Given the description of an element on the screen output the (x, y) to click on. 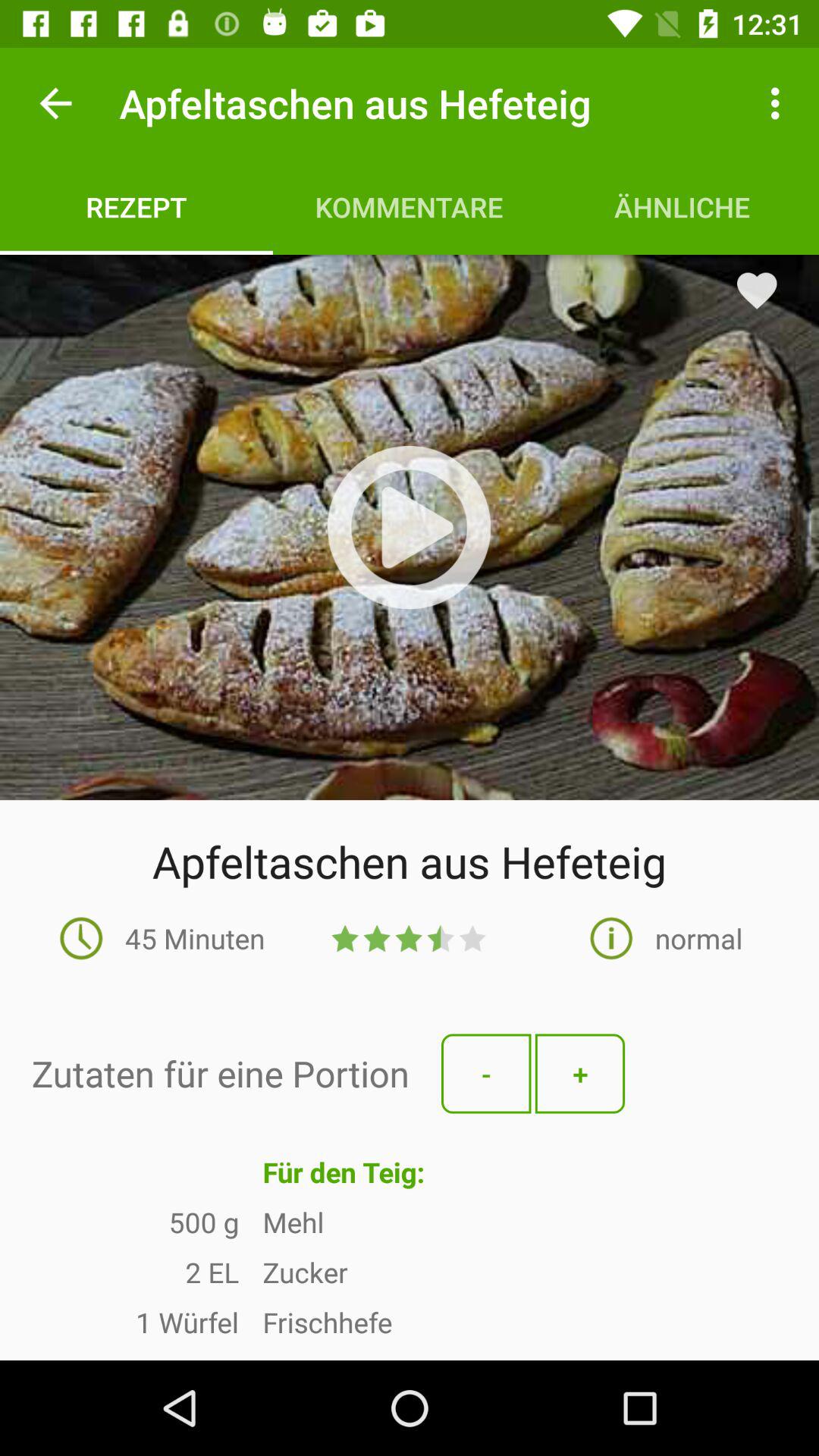
advertisement (409, 527)
